Given the description of an element on the screen output the (x, y) to click on. 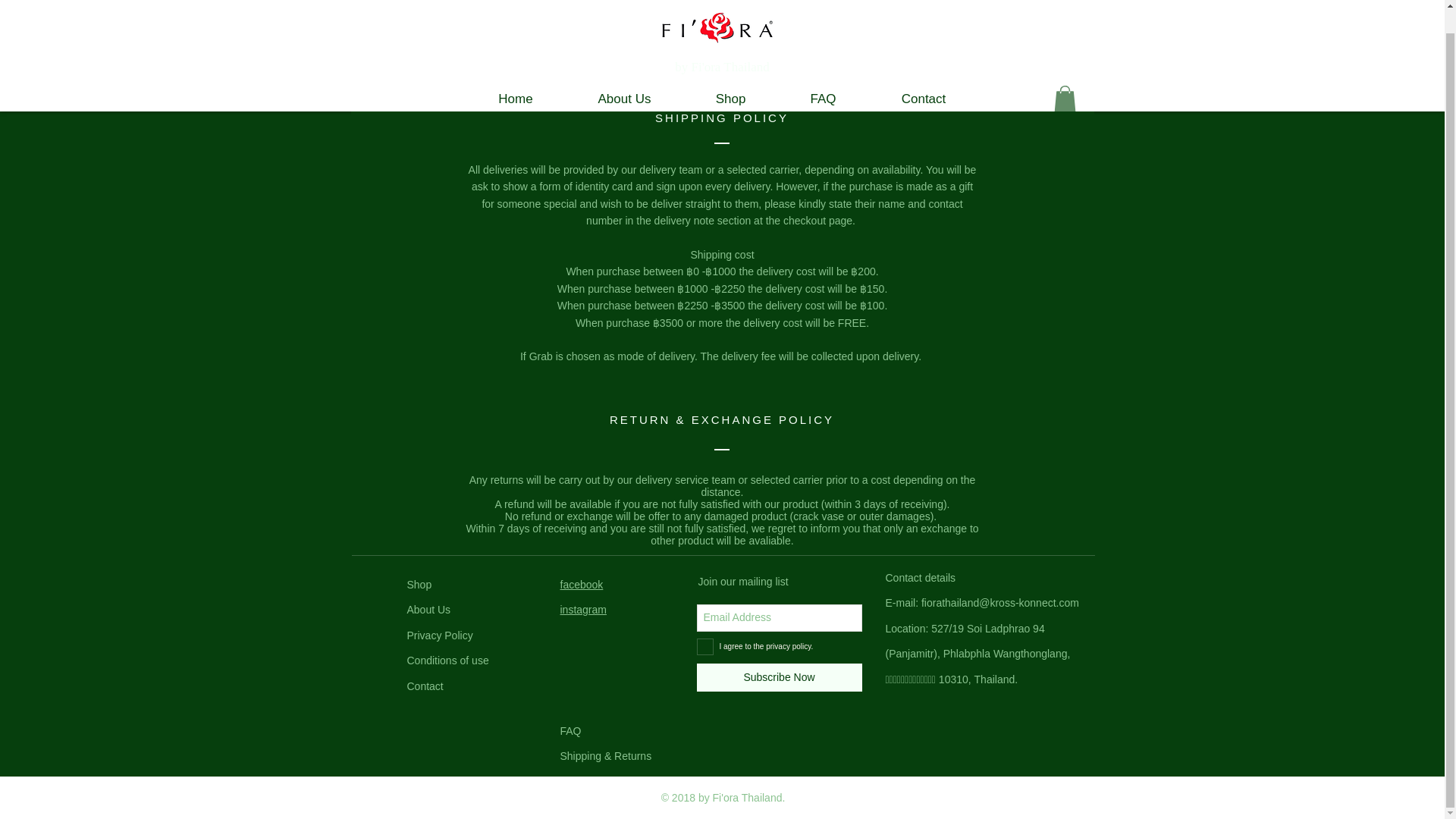
FAQ (569, 730)
Contact (424, 686)
Shop (730, 98)
by Fi'ora Thailand (722, 66)
About Us (427, 609)
facebook (580, 584)
Shop (418, 584)
Privacy Policy (438, 635)
Contact details (920, 577)
About Us (625, 98)
